Given the description of an element on the screen output the (x, y) to click on. 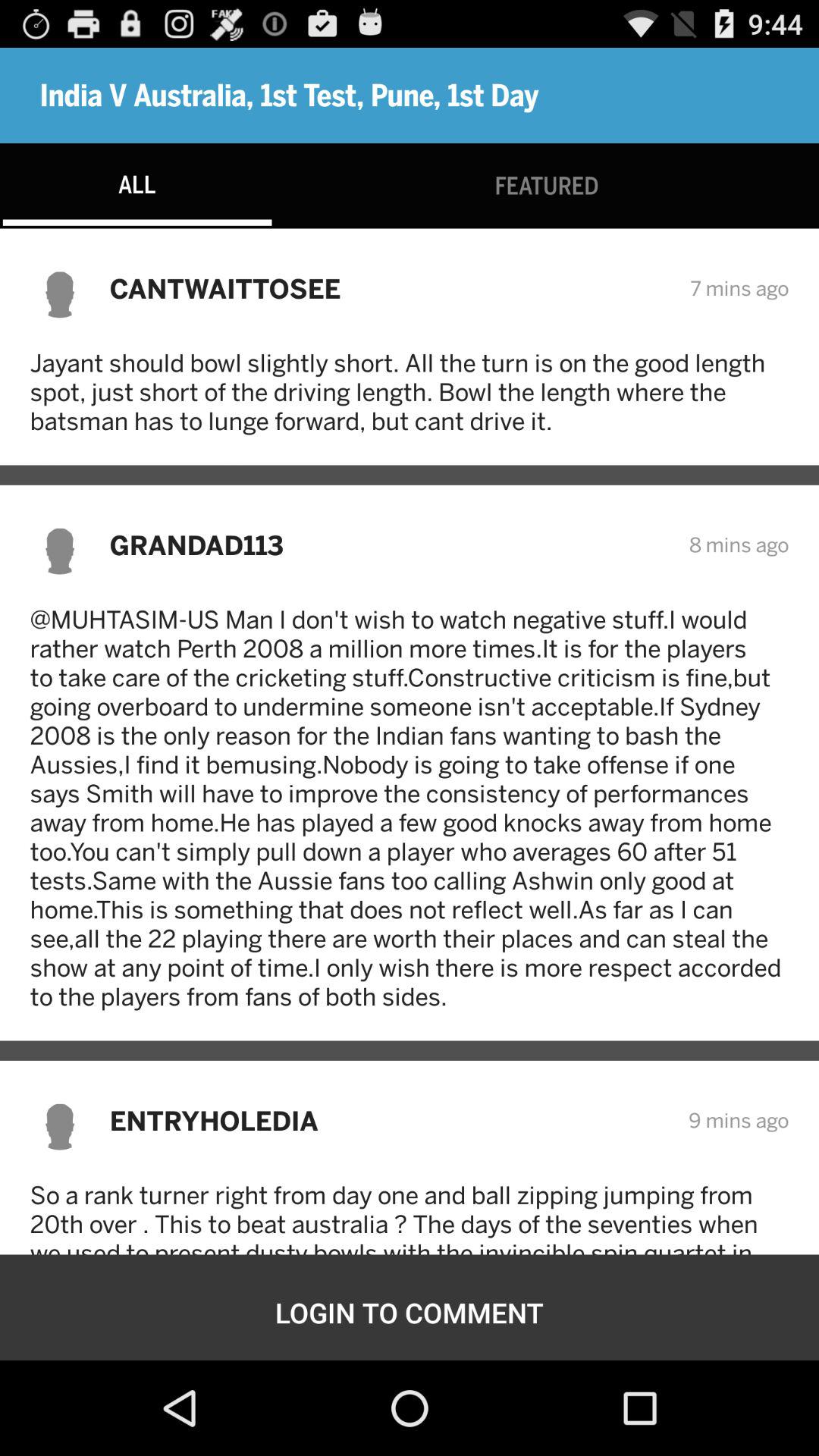
launch item below the all item (389, 288)
